Given the description of an element on the screen output the (x, y) to click on. 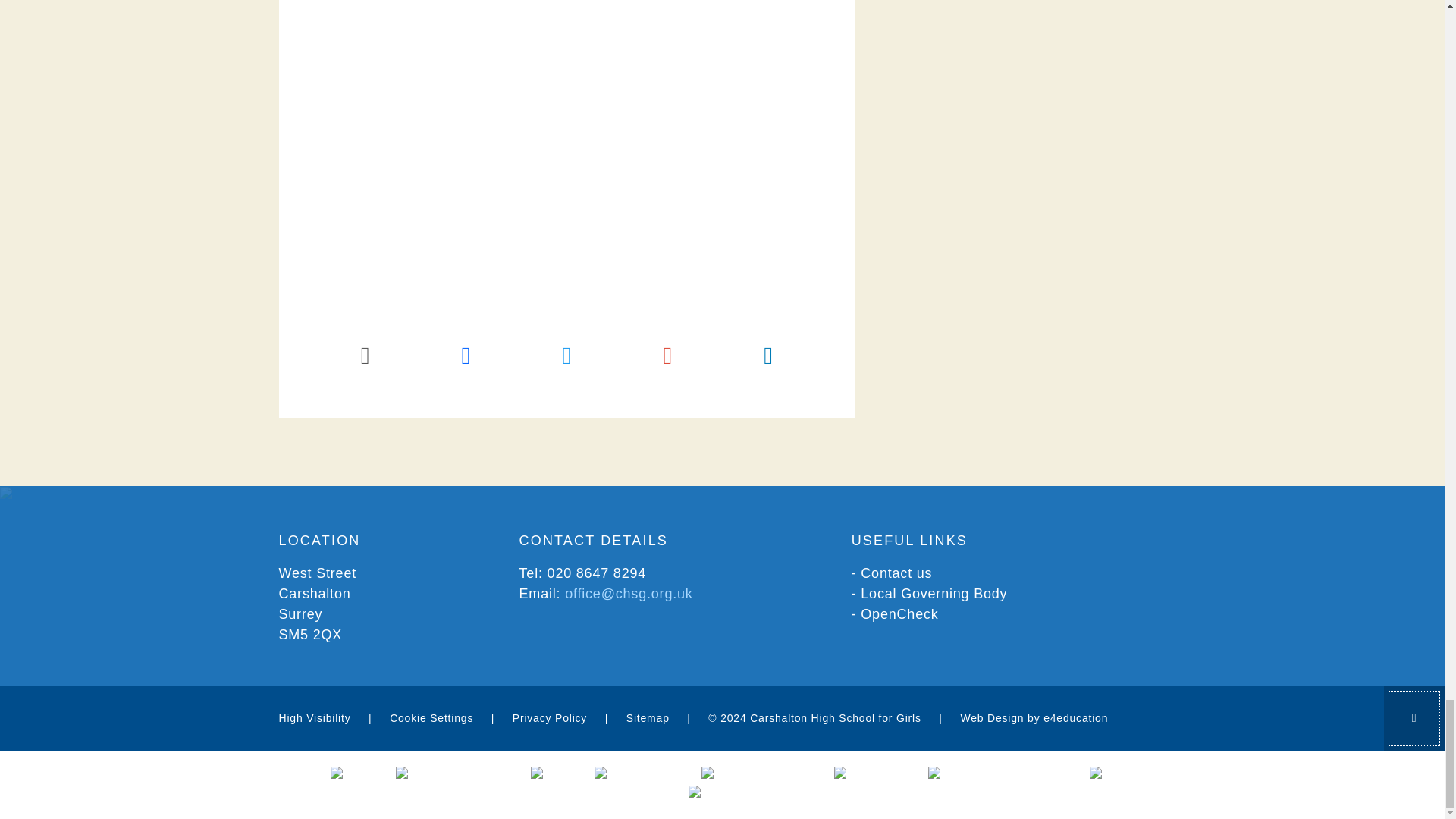
Quality in Careers (455, 775)
NCGS (355, 775)
Arts college (729, 793)
ASGS (555, 775)
Humanities (873, 775)
Cookie Settings (431, 717)
National Online Safety (1001, 775)
Sutton Music Hub (759, 775)
Jack Petchey (639, 775)
